Given the description of an element on the screen output the (x, y) to click on. 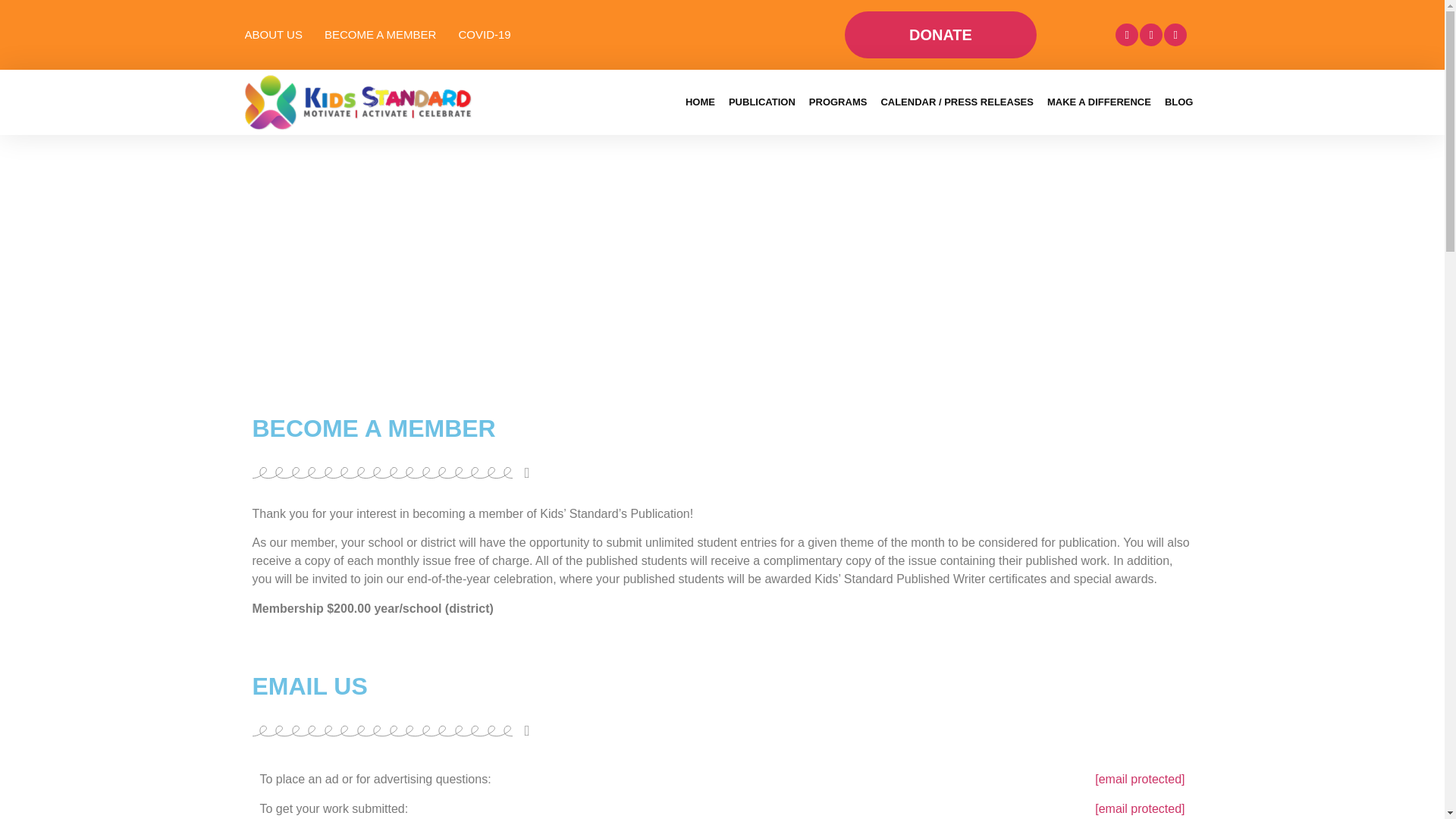
COVID-19 (484, 35)
BECOME A MEMBER (380, 35)
ABOUT US (272, 35)
PROGRAMS (838, 102)
DONATE (940, 34)
MAKE A DIFFERENCE (1099, 102)
PUBLICATION (762, 102)
